Given the description of an element on the screen output the (x, y) to click on. 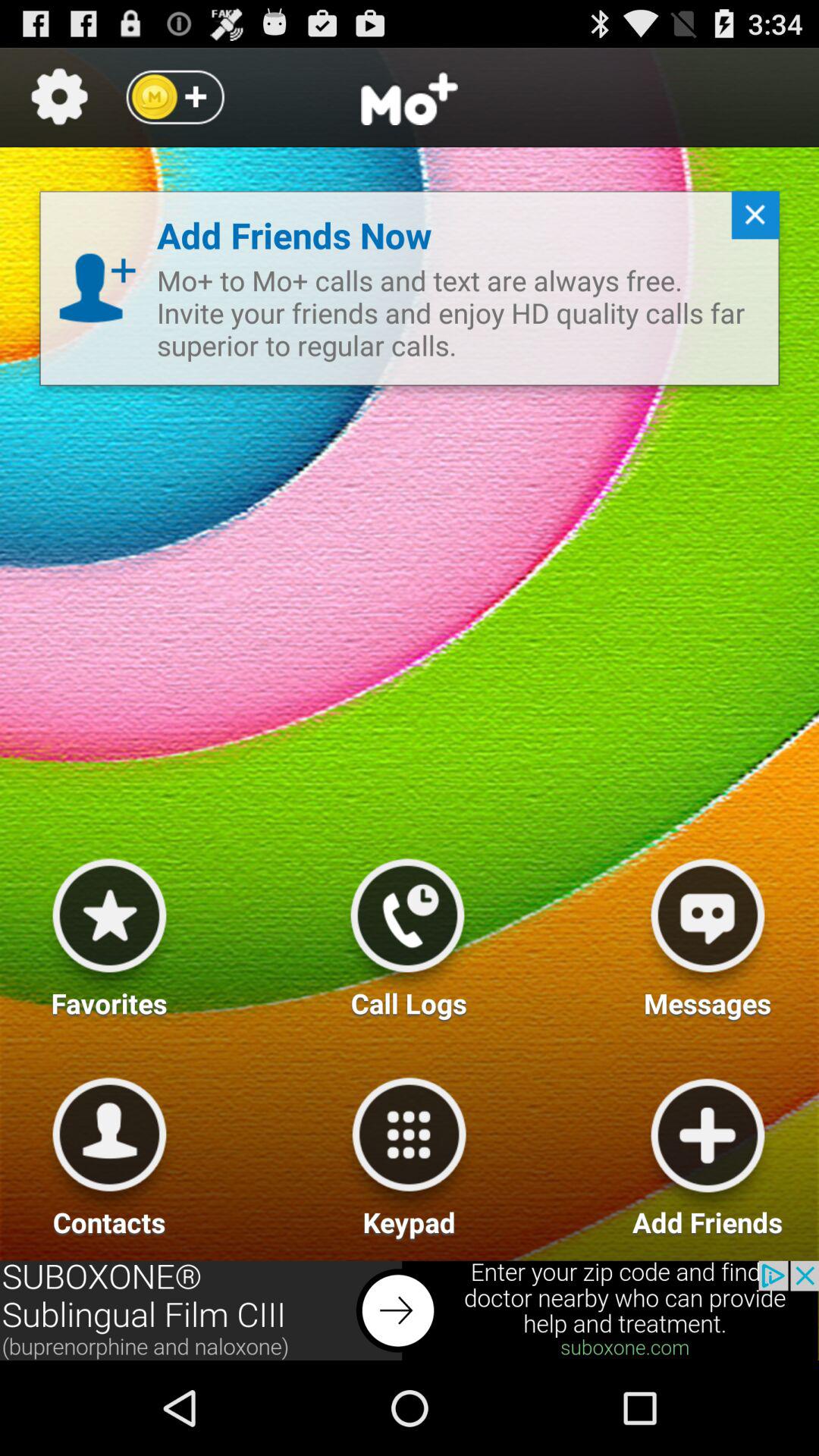
go to add friends button (707, 1151)
